Given the description of an element on the screen output the (x, y) to click on. 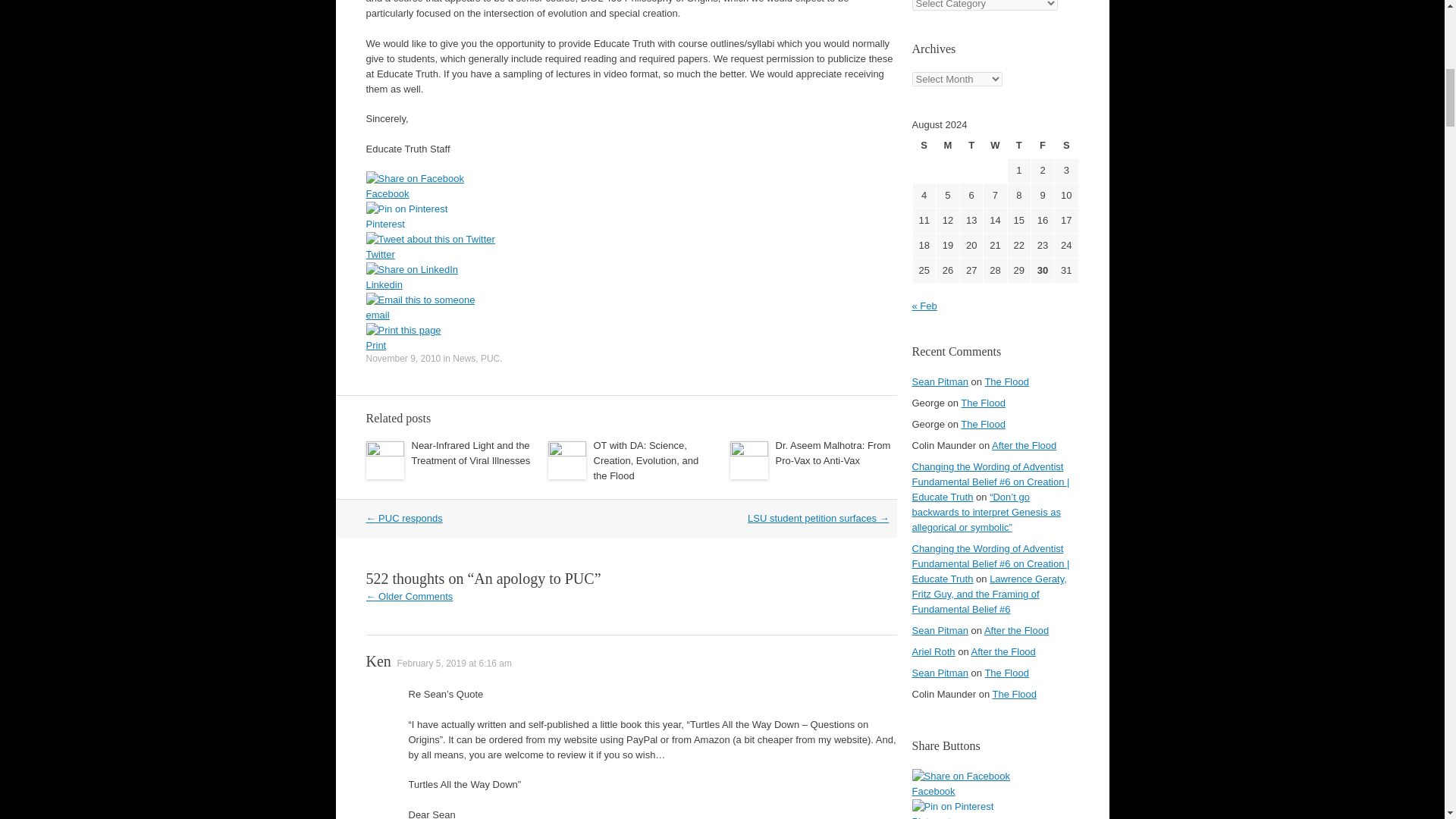
Linkedin (630, 284)
email (630, 314)
Facebook (630, 193)
LinkedIn (411, 269)
Email (419, 299)
Pinterest (405, 209)
Twitter (430, 239)
Print (403, 330)
Twitter (630, 254)
